Given the description of an element on the screen output the (x, y) to click on. 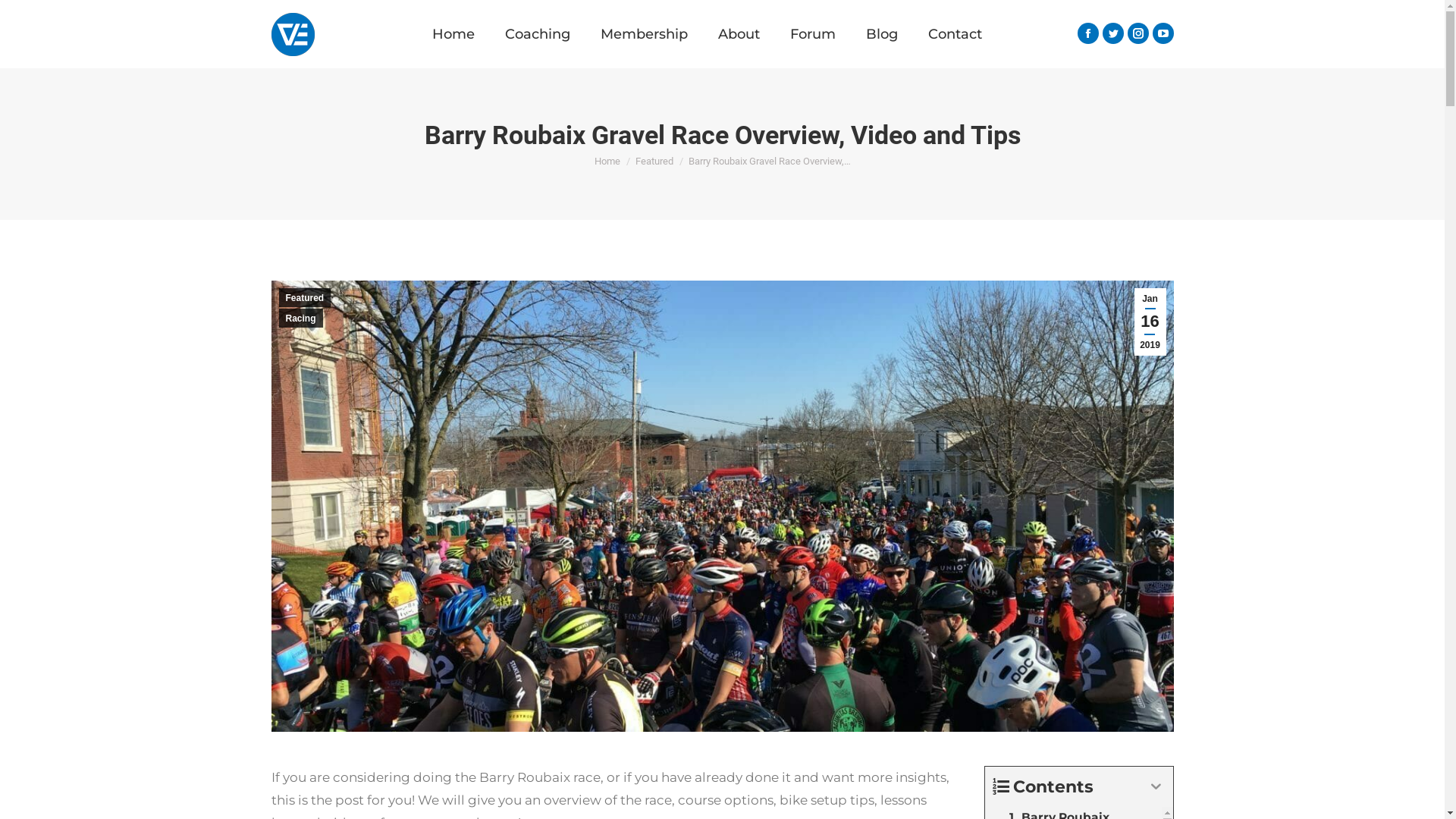
Featured Element type: text (305, 297)
Contact Element type: text (955, 33)
Coaching Element type: text (537, 33)
Twitter page opens in new window Element type: text (1112, 32)
Jan
16
2019 Element type: text (1150, 321)
Post Comment Element type: text (59, 24)
Instagram page opens in new window Element type: text (1137, 32)
YouTube page opens in new window Element type: text (1162, 32)
Home Element type: text (607, 160)
Membership Element type: text (643, 33)
Featured Element type: text (654, 160)
Facebook page opens in new window Element type: text (1087, 32)
Blog Element type: text (881, 33)
Forum Element type: text (812, 33)
About Element type: text (738, 33)
Home Element type: text (453, 33)
Racing Element type: text (301, 317)
